Given the description of an element on the screen output the (x, y) to click on. 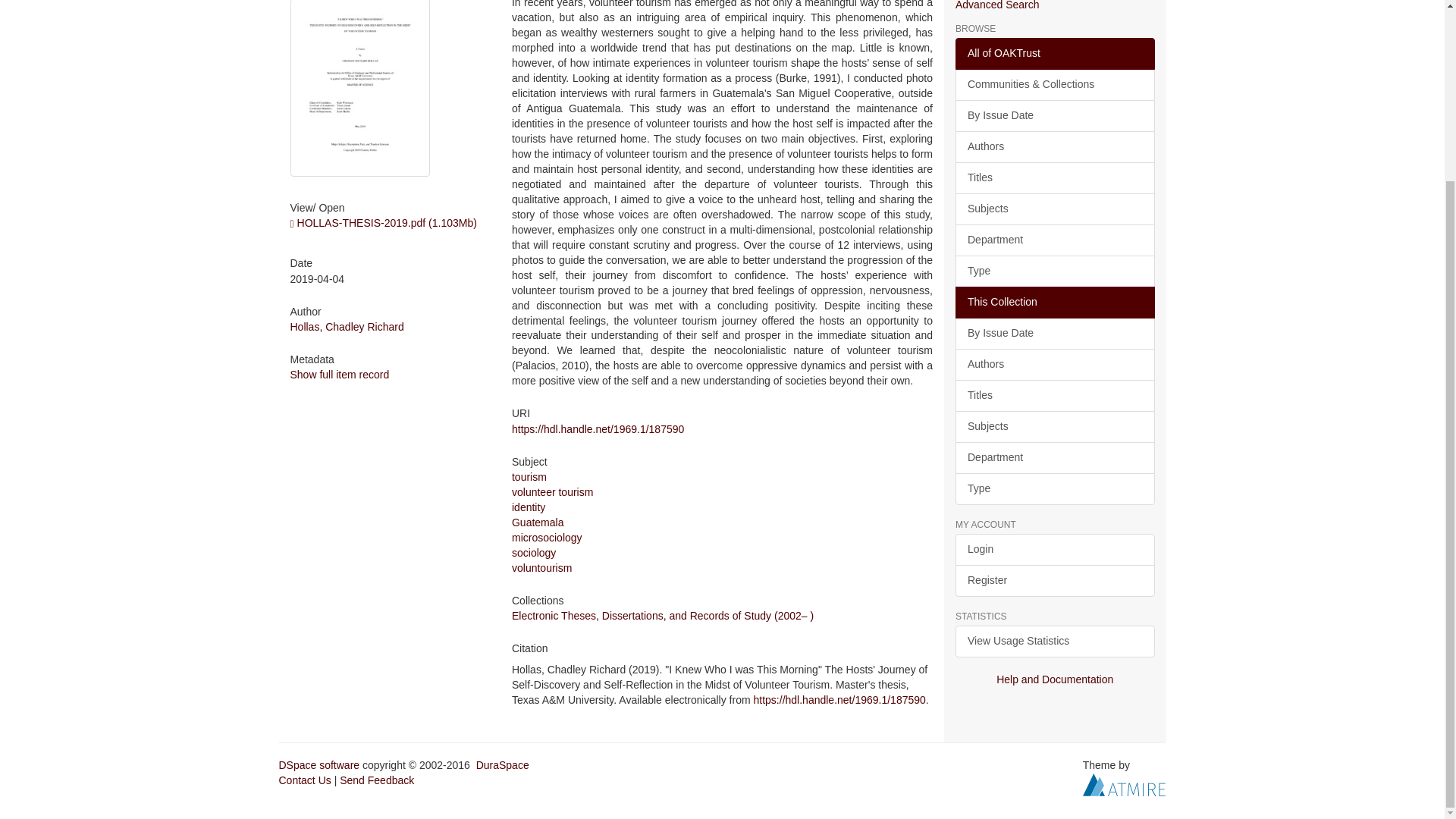
Guatemala (537, 522)
Atmire NV (1124, 783)
voluntourism (542, 567)
microsociology (547, 537)
Hollas, Chadley Richard (346, 326)
Show full item record (338, 374)
identity (528, 507)
sociology (534, 552)
volunteer tourism (552, 491)
tourism (529, 476)
